Given the description of an element on the screen output the (x, y) to click on. 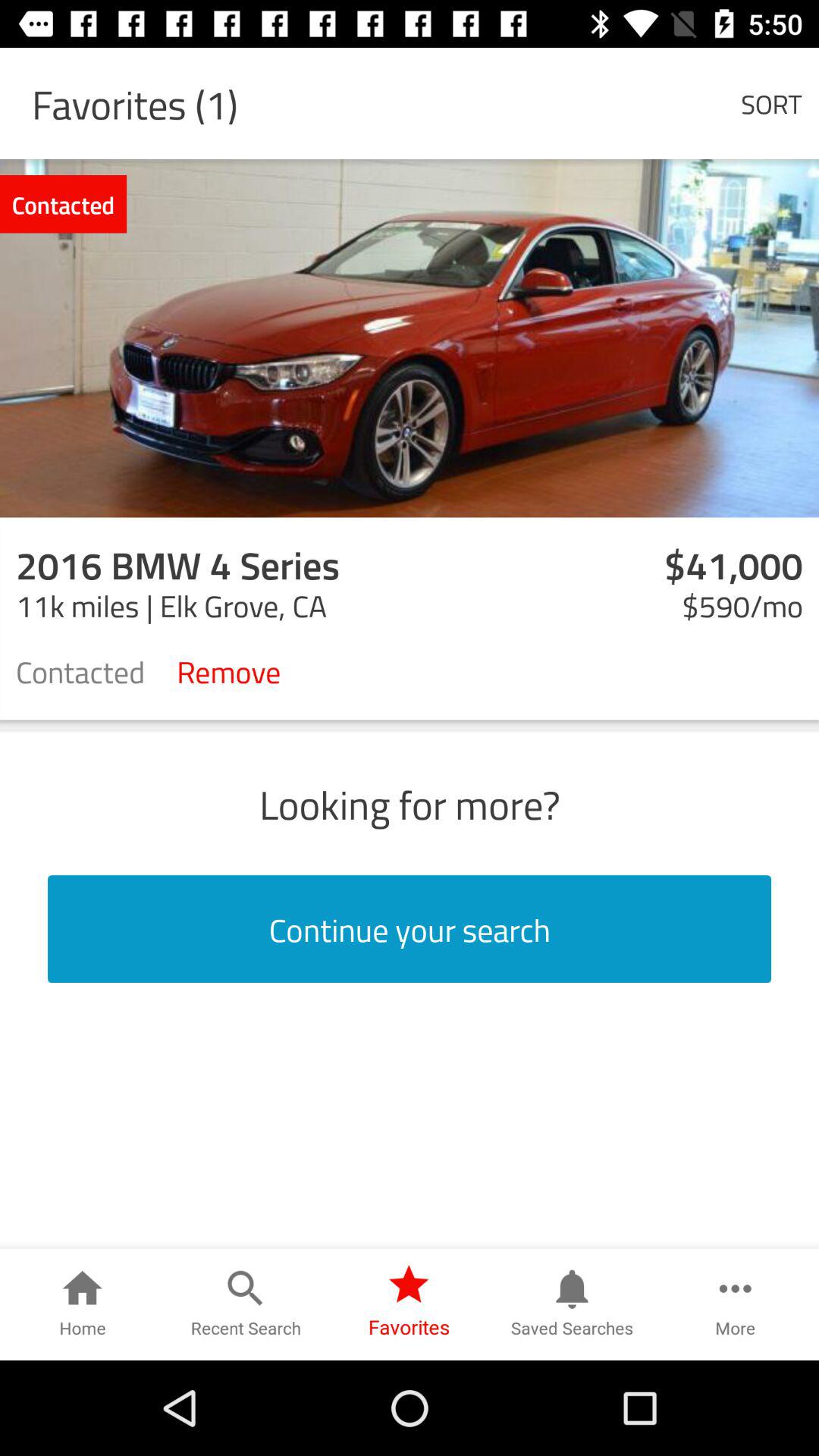
select the app to the right of favorites (1) app (771, 103)
